Given the description of an element on the screen output the (x, y) to click on. 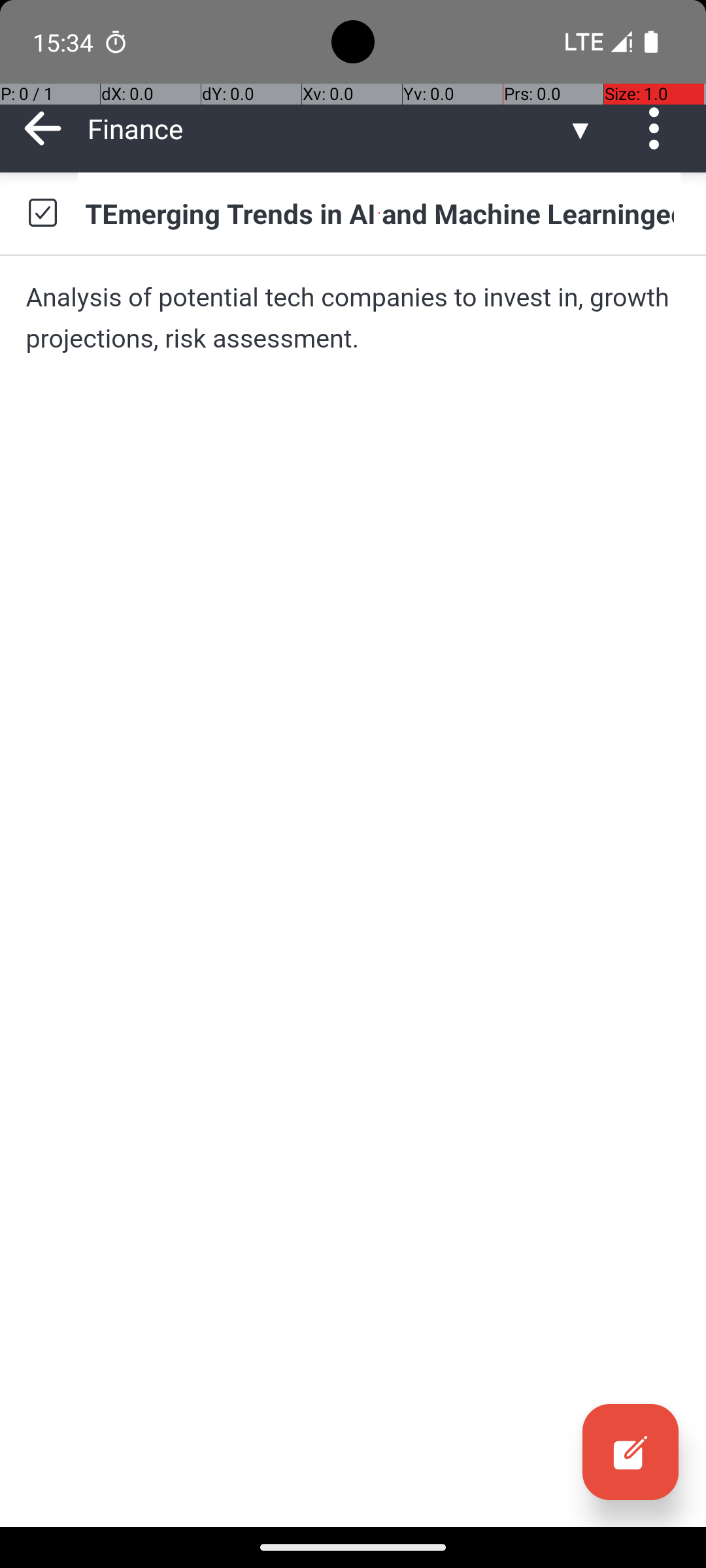
Investment Research - TEmerging Trends in AI and Machine Learningech Stocks Element type: android.widget.EditText (378, 213)
Analysis of potential tech companies to invest in, growth projections, risk assessment. Element type: android.widget.TextView (352, 317)
